Given the description of an element on the screen output the (x, y) to click on. 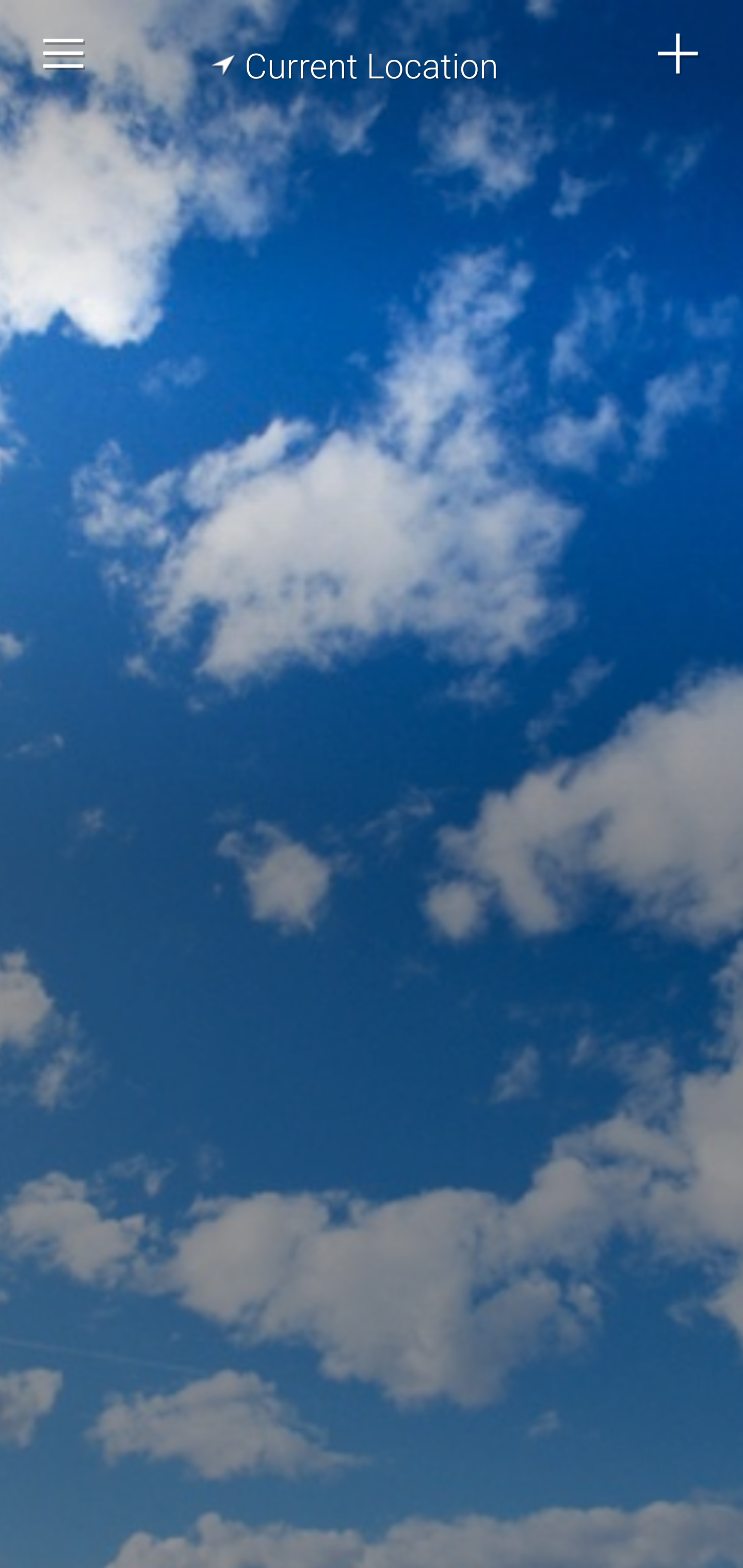
Sidebar (64, 54)
Add City (678, 53)
